Given the description of an element on the screen output the (x, y) to click on. 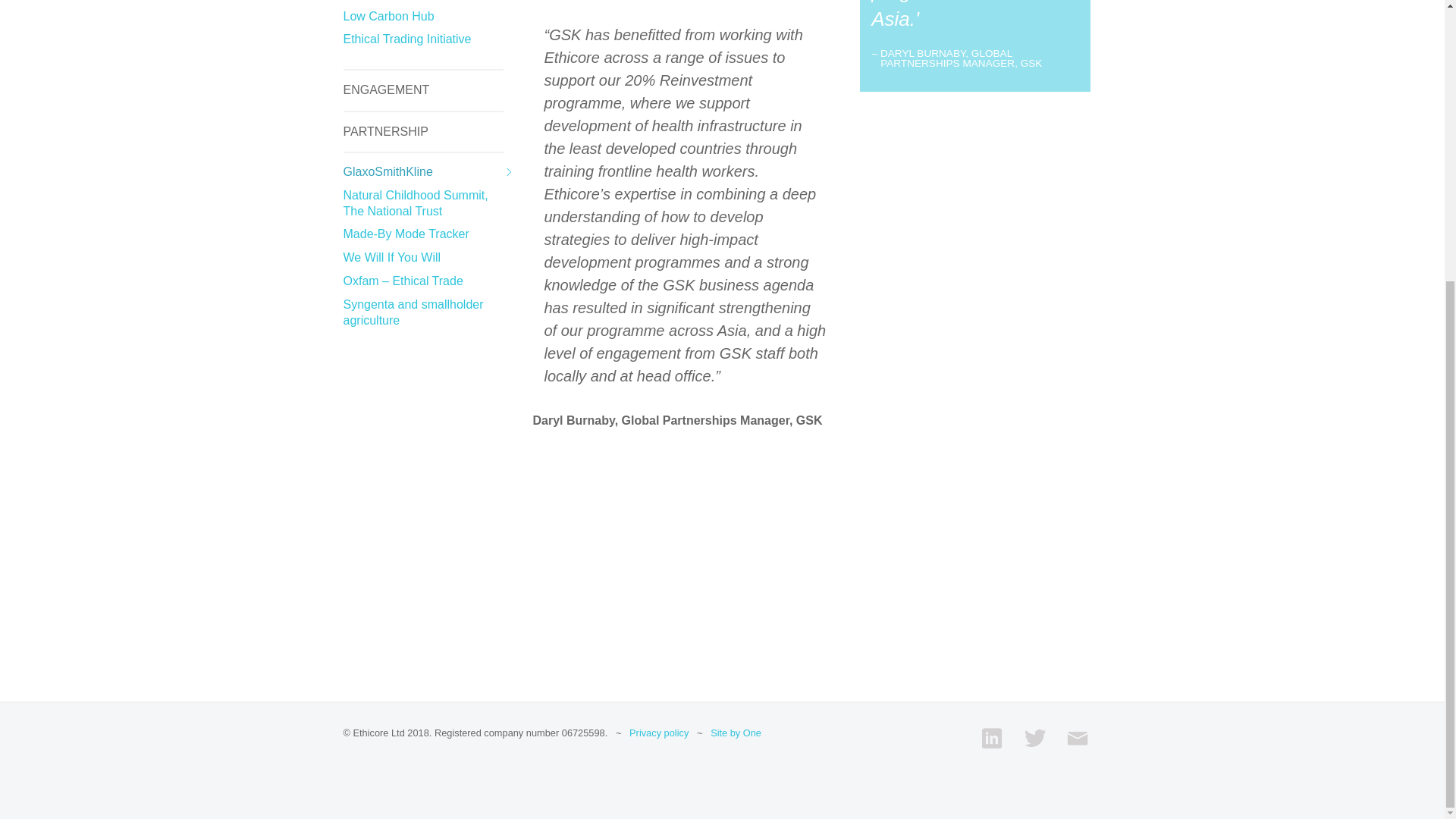
Send an email to Ethicore (1077, 738)
Follow Ethicore on Linked In (991, 738)
GSK - Winner, Unilever International (684, 533)
Low Carbon Hub (387, 15)
Read the Ethicore Twitter feed (1033, 738)
Ethical Trading Initiative (406, 38)
